Given the description of an element on the screen output the (x, y) to click on. 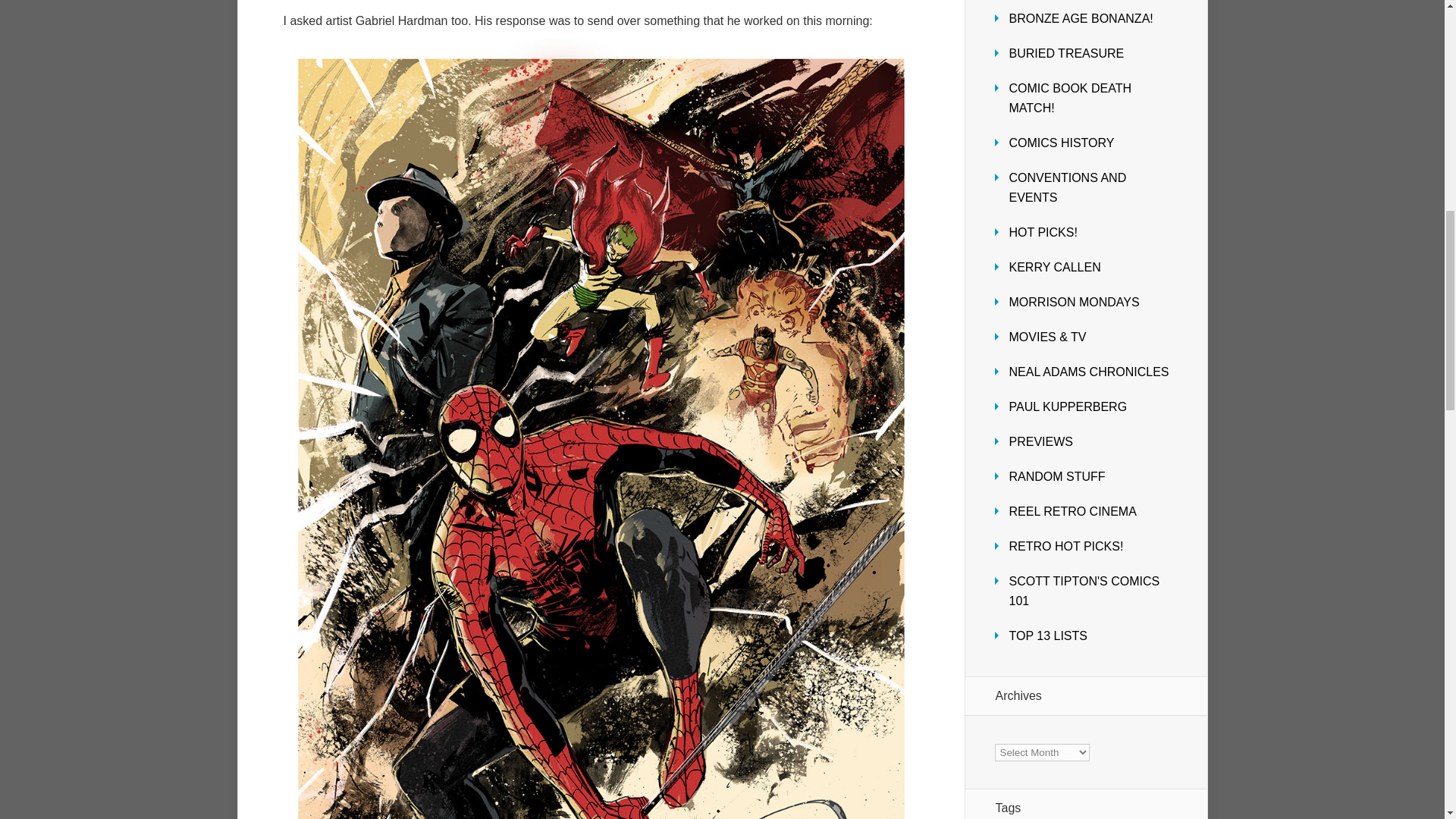
MORRISON MONDAYS (1073, 301)
BRONZE AGE BONANZA! (1081, 18)
CONVENTIONS AND EVENTS (1067, 187)
BURIED TREASURE (1066, 52)
PAUL KUPPERBERG (1067, 406)
KERRY CALLEN (1054, 267)
COMIC BOOK DEATH MATCH! (1070, 97)
COMICS HISTORY (1061, 142)
HOT PICKS! (1043, 232)
NEAL ADAMS CHRONICLES (1089, 371)
